Given the description of an element on the screen output the (x, y) to click on. 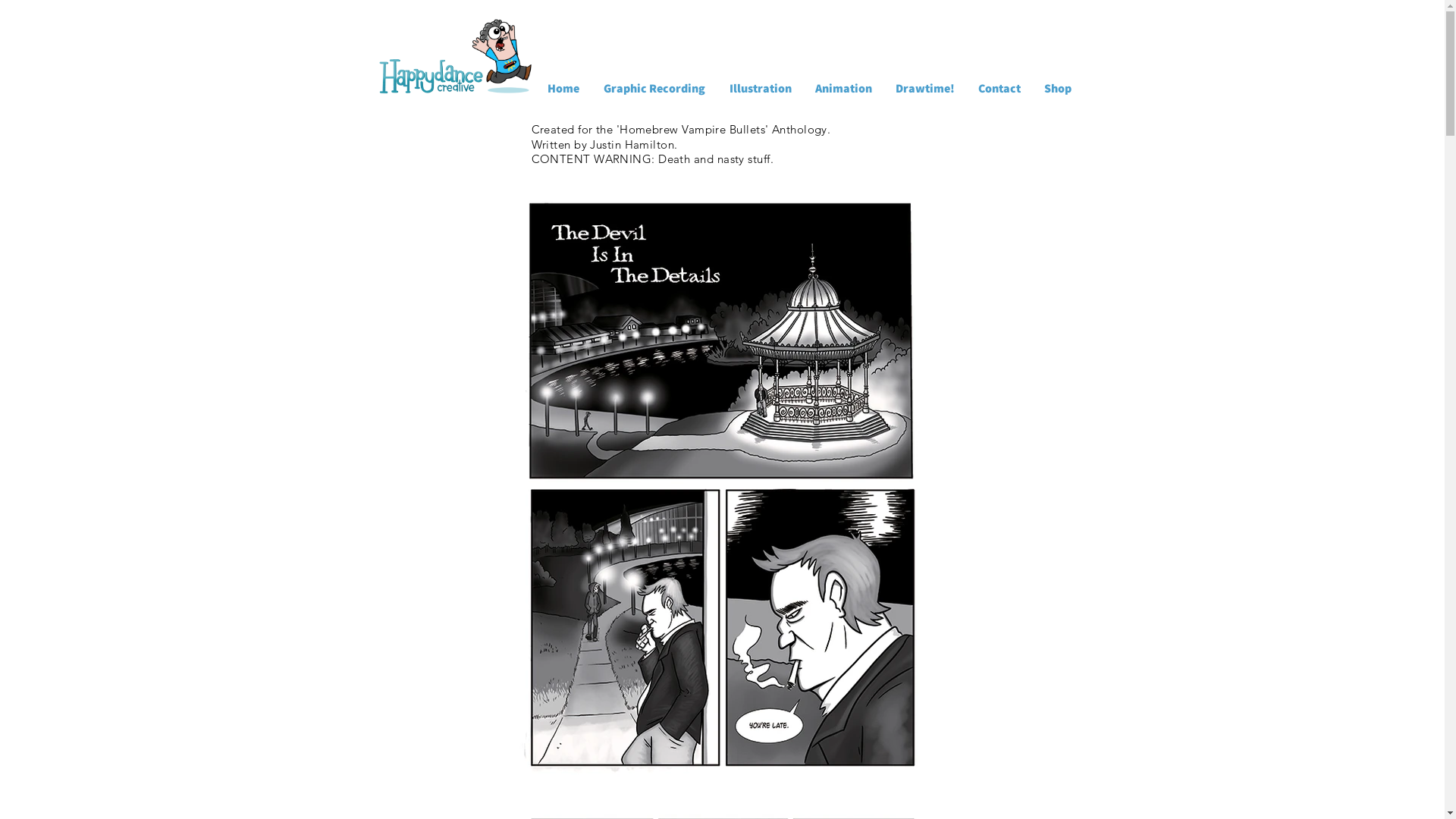
Shop Element type: text (1057, 88)
Contact Element type: text (999, 88)
Home Element type: text (563, 88)
Drawtime! Element type: text (925, 88)
Illustration Element type: text (760, 88)
Animation Element type: text (843, 88)
Graphic Recording Element type: text (654, 88)
